Given the description of an element on the screen output the (x, y) to click on. 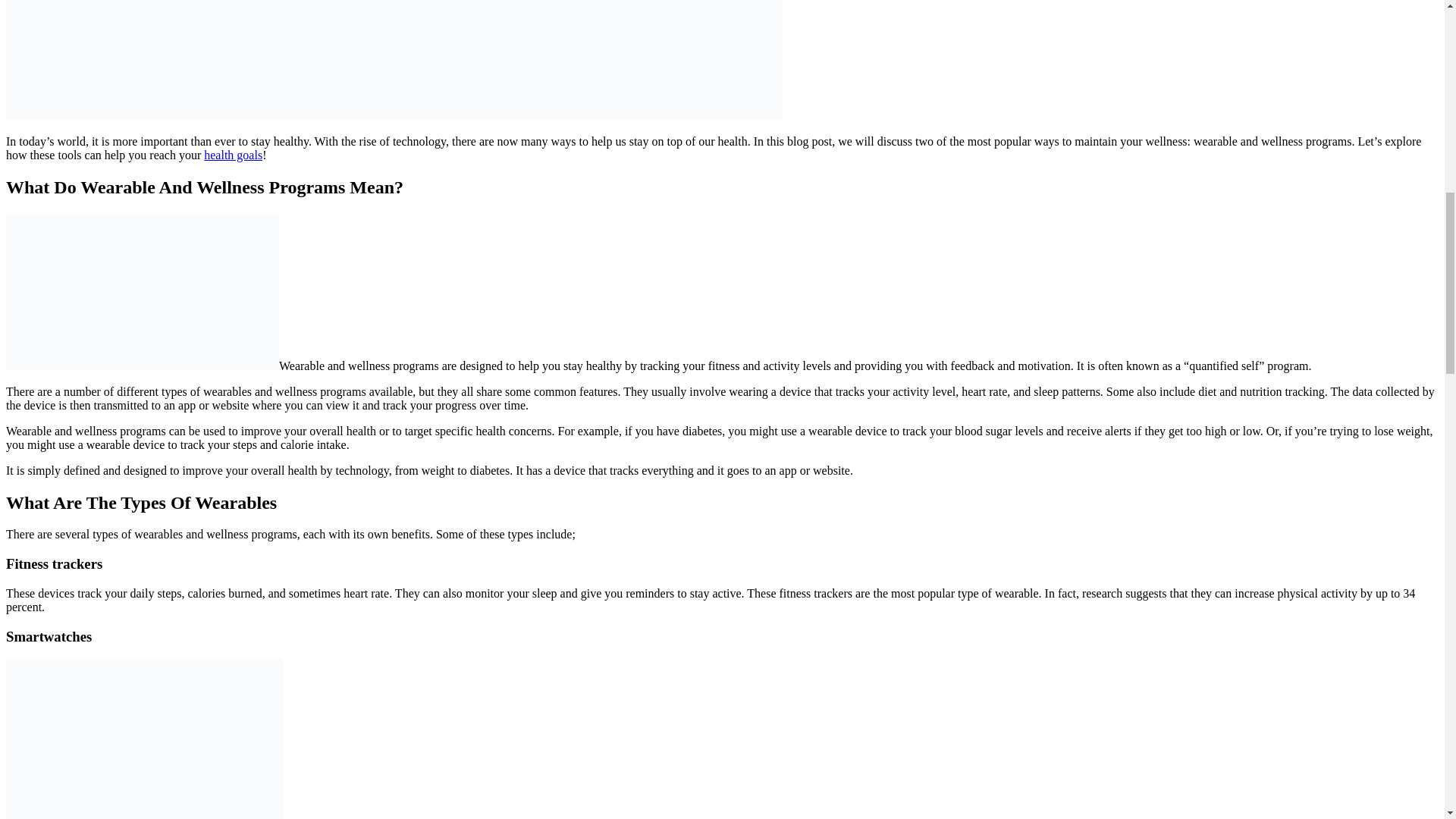
health goals (232, 154)
health goals (232, 154)
